Given the description of an element on the screen output the (x, y) to click on. 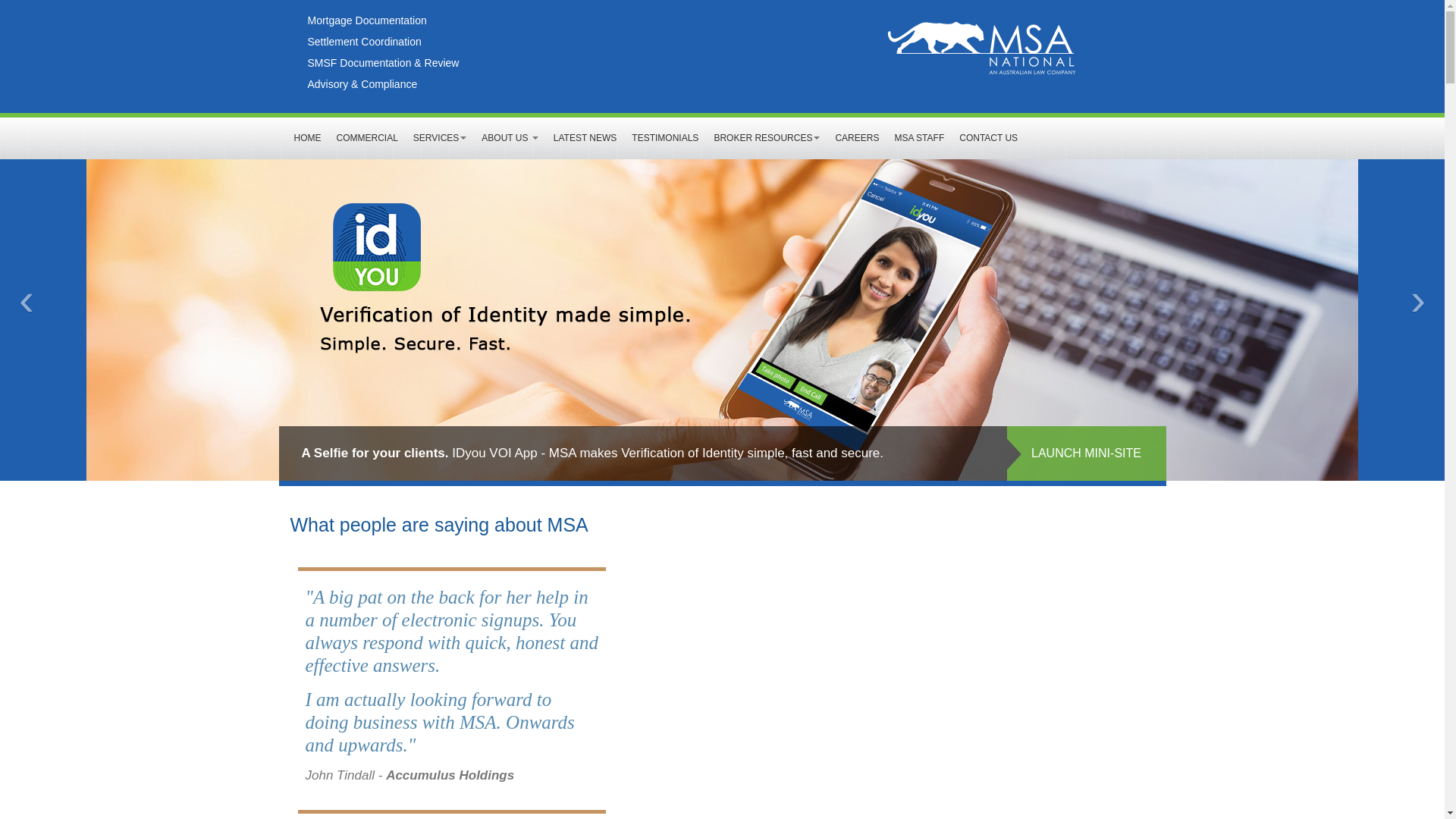
COMMERCIAL Element type: text (367, 138)
CONTACT US Element type: text (988, 138)
CAREERS Element type: text (856, 138)
HOME Element type: text (307, 138)
SERVICES Element type: text (439, 138)
MSA STAFF Element type: text (918, 138)
BROKER RESOURCES Element type: text (766, 138)
ABOUT US Element type: text (509, 138)
LATEST NEWS Element type: text (585, 138)
READ MORE Element type: text (1086, 453)
TESTIMONIALS Element type: text (665, 138)
